Given the description of an element on the screen output the (x, y) to click on. 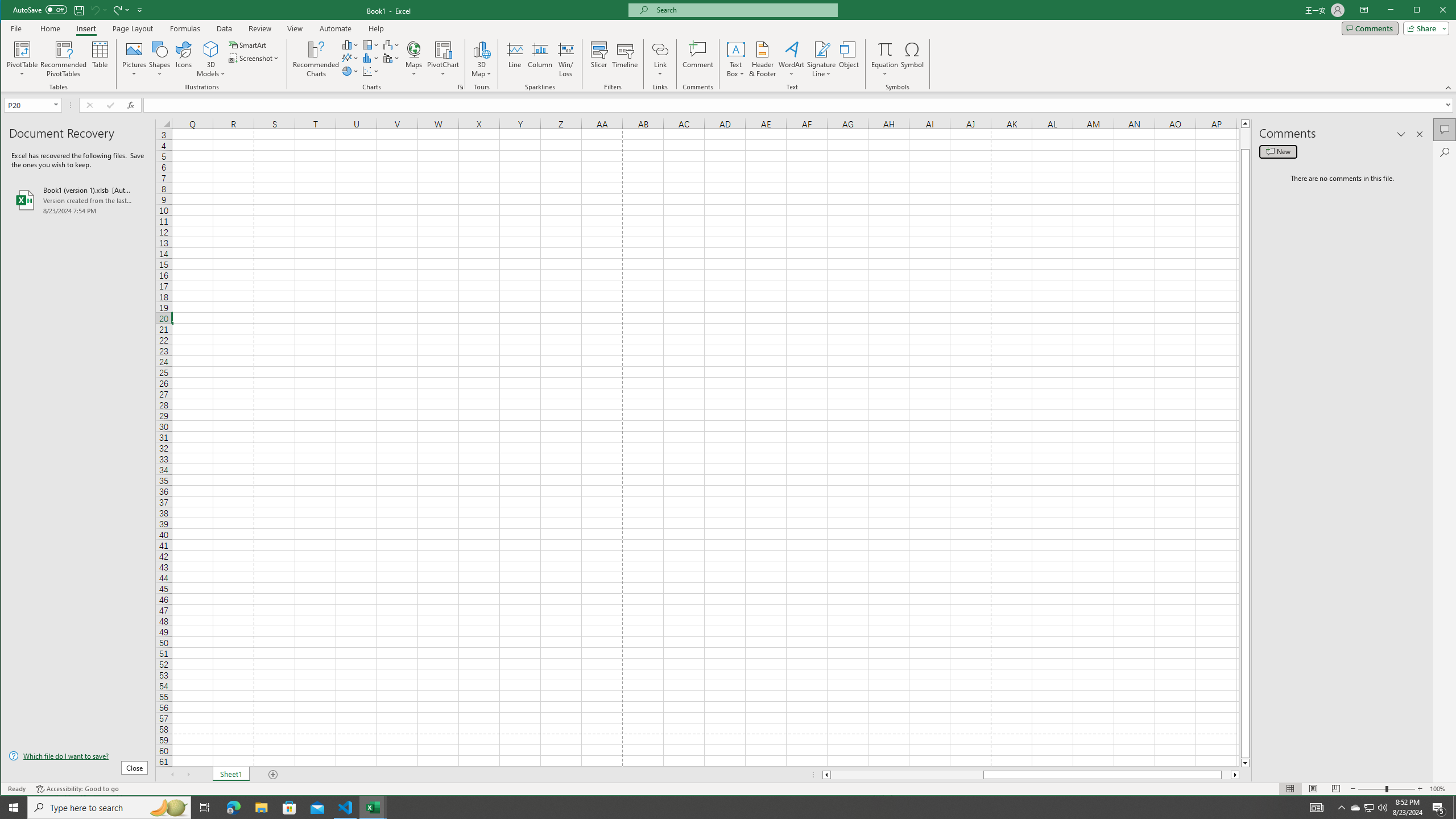
Insert Hierarchy Chart (371, 44)
Task Pane Options (1368, 807)
Line (1400, 133)
Insert Line or Area Chart (514, 59)
